Given the description of an element on the screen output the (x, y) to click on. 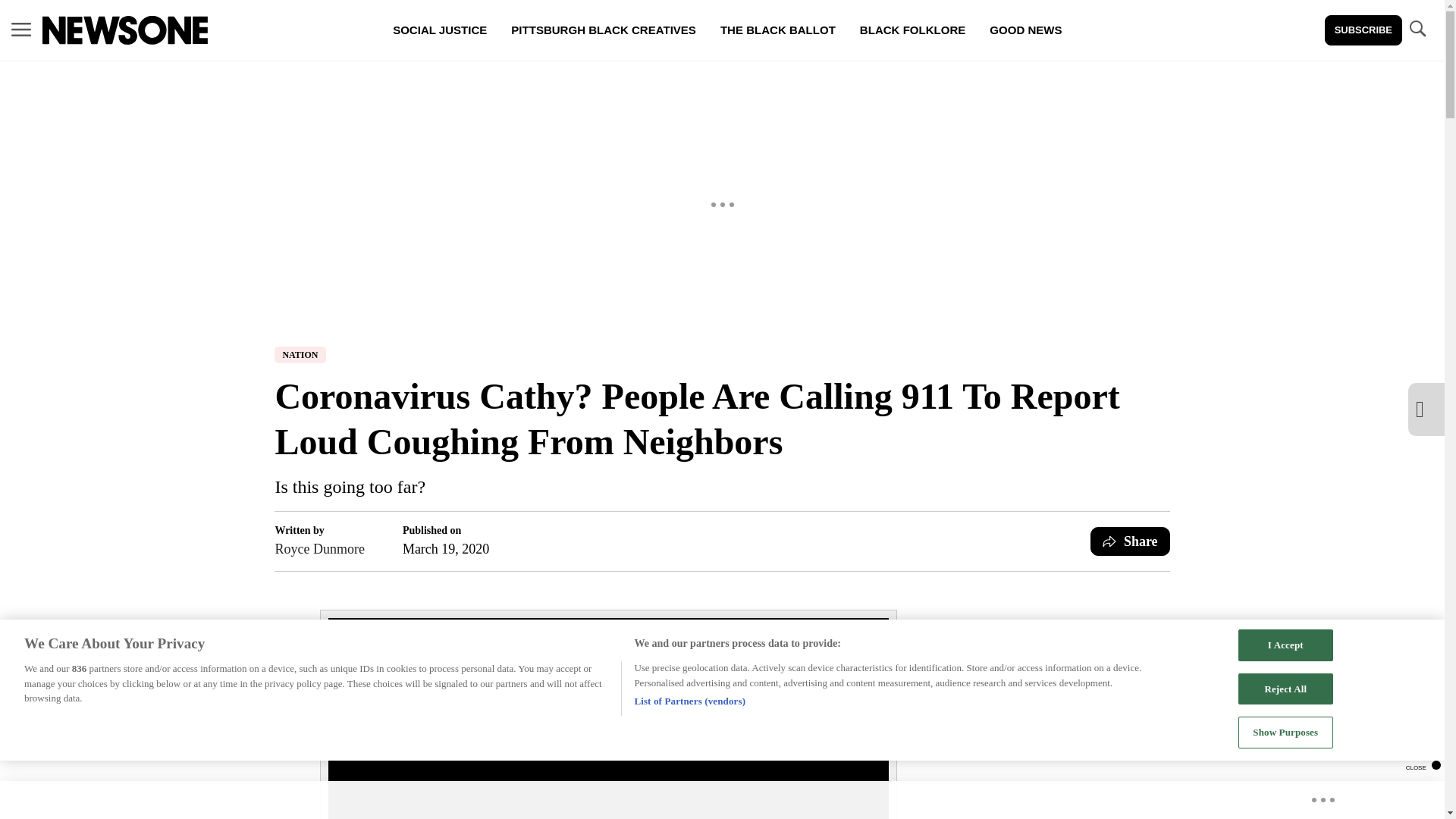
TOGGLE SEARCH (1417, 30)
MENU (20, 30)
SUBSCRIBE (1363, 30)
Share (1130, 541)
THE BLACK BALLOT (777, 30)
Royce Dunmore (319, 548)
BLACK FOLKLORE (911, 30)
NATION (299, 354)
SOCIAL JUSTICE (439, 30)
GOOD NEWS (1025, 30)
PITTSBURGH BLACK CREATIVES (603, 30)
TOGGLE SEARCH (1417, 28)
MENU (20, 29)
